Given the description of an element on the screen output the (x, y) to click on. 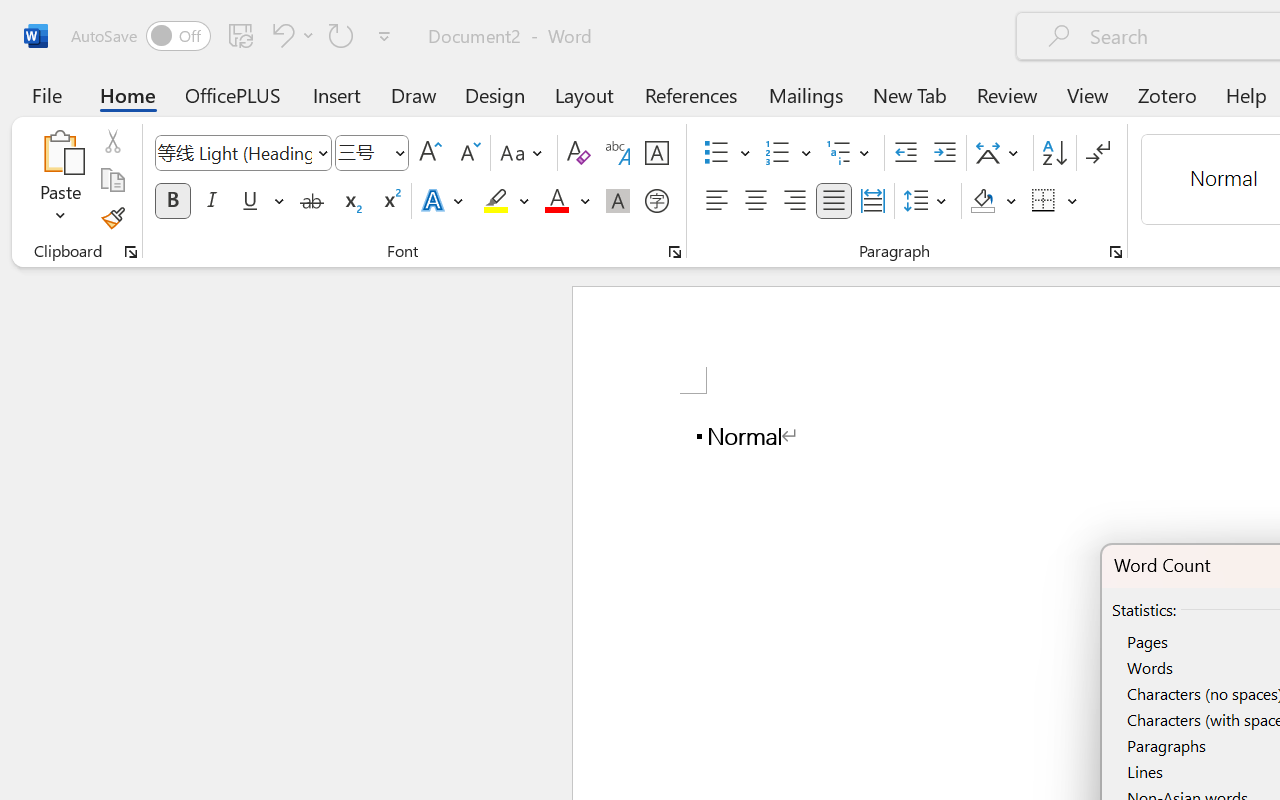
Increase Indent (944, 153)
Center (756, 201)
Asian Layout (1000, 153)
Undo Typing (290, 35)
Font (234, 152)
Customize Quick Access Toolbar (384, 35)
Distributed (872, 201)
Quick Access Toolbar (233, 36)
AutoSave (140, 35)
Change Case (524, 153)
Superscript (390, 201)
Font Size (362, 152)
Subscript (350, 201)
Bullets (727, 153)
Text Effects and Typography (444, 201)
